Given the description of an element on the screen output the (x, y) to click on. 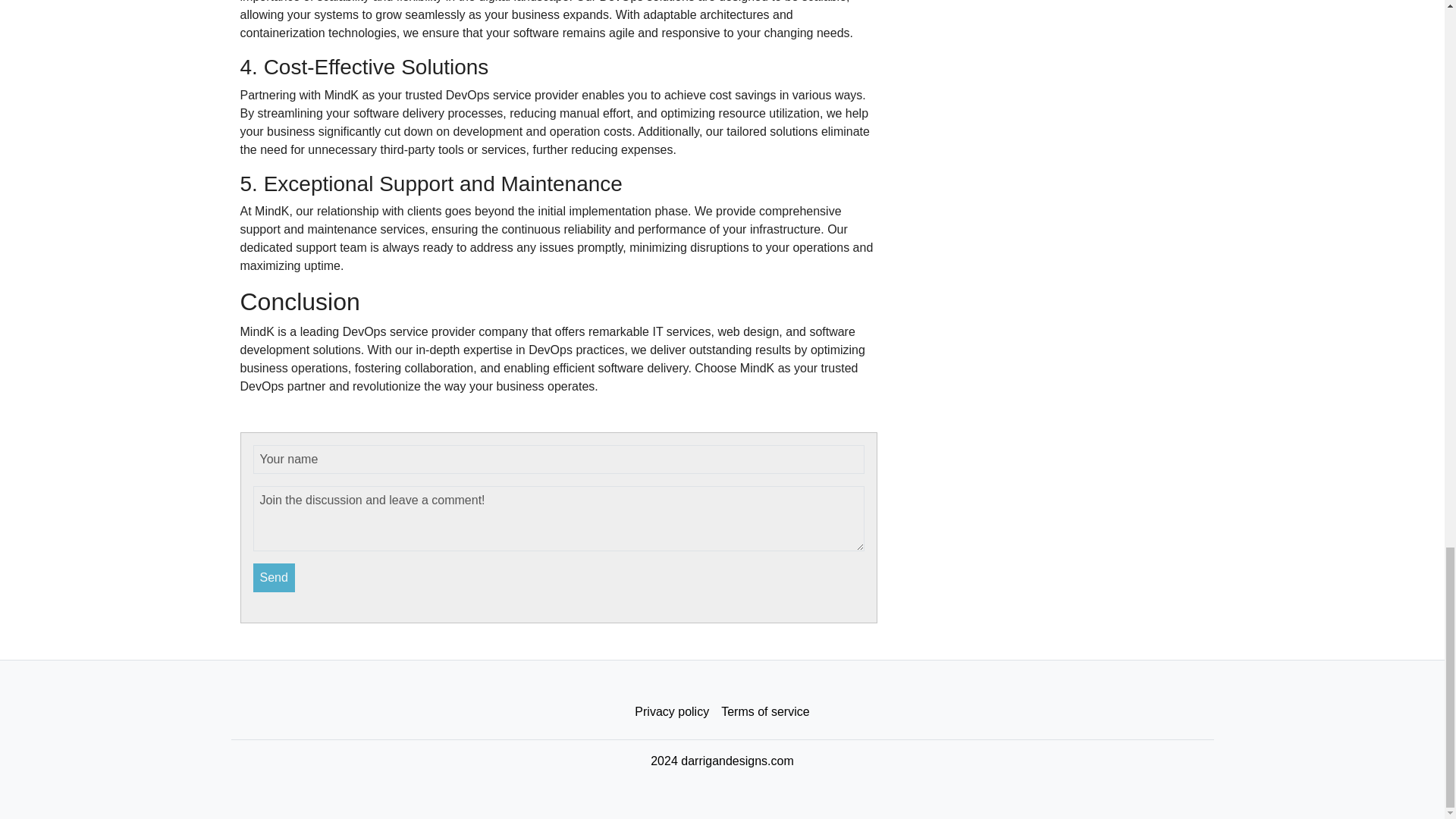
Send (274, 576)
Privacy policy (671, 711)
Send (274, 576)
Terms of service (764, 711)
